Given the description of an element on the screen output the (x, y) to click on. 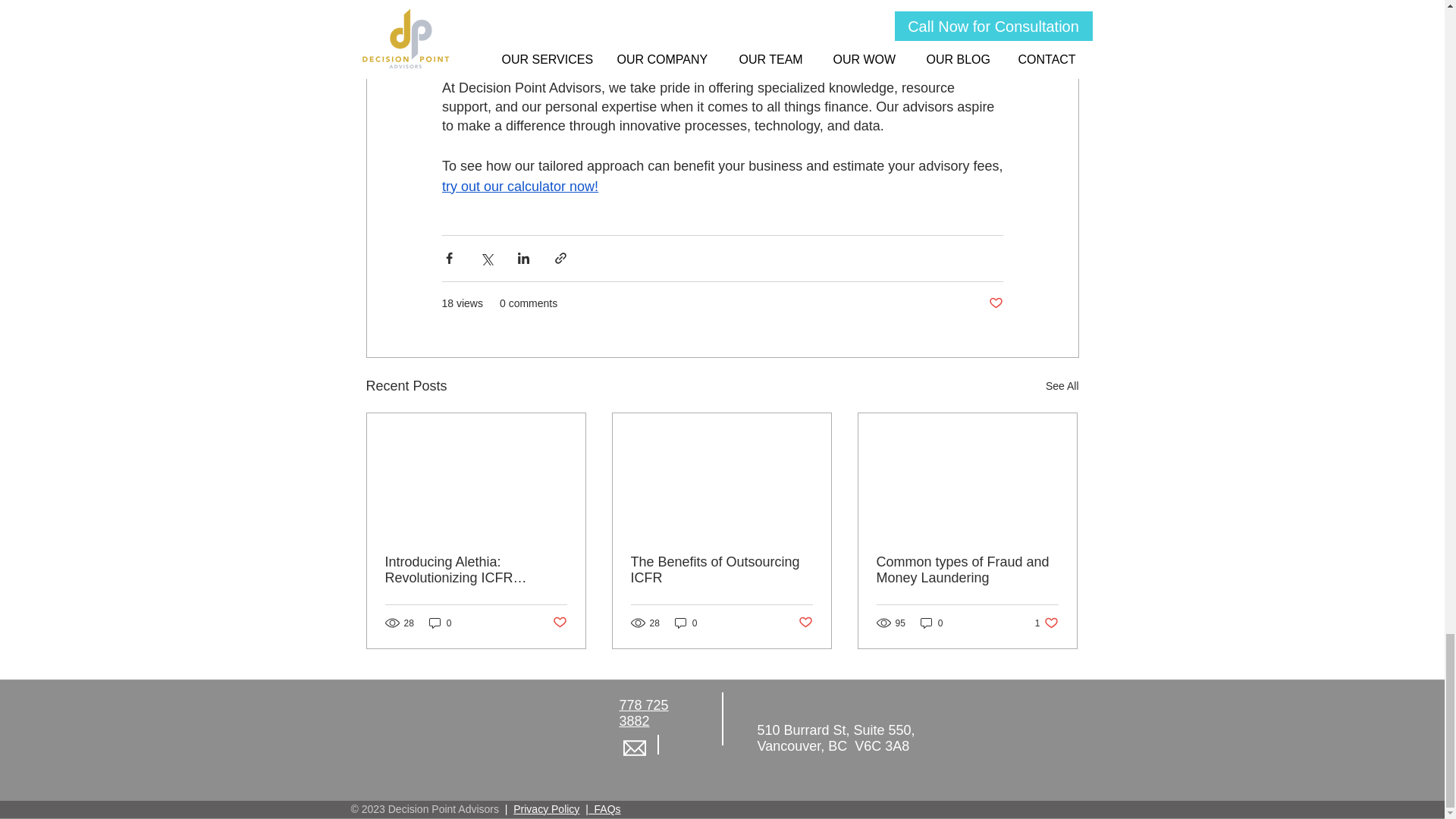
Post not marked as liked (995, 303)
See All (1061, 386)
try out our calculator now! (518, 186)
Post not marked as liked (558, 622)
0 (440, 622)
